Given the description of an element on the screen output the (x, y) to click on. 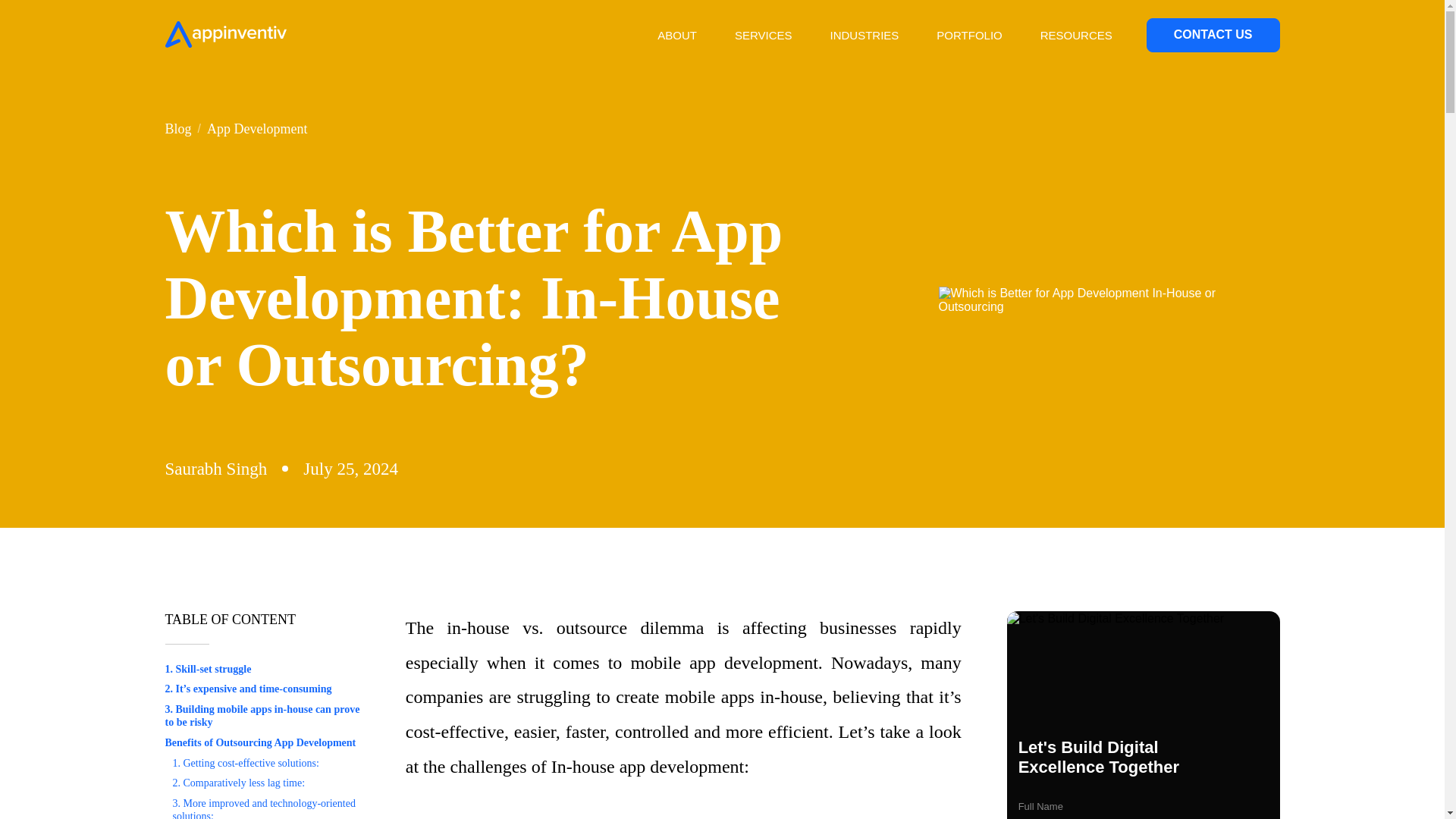
SERVICES (763, 34)
Which is Better for App Development In-House or Outsourcing (1109, 300)
ABOUT (677, 34)
